Given the description of an element on the screen output the (x, y) to click on. 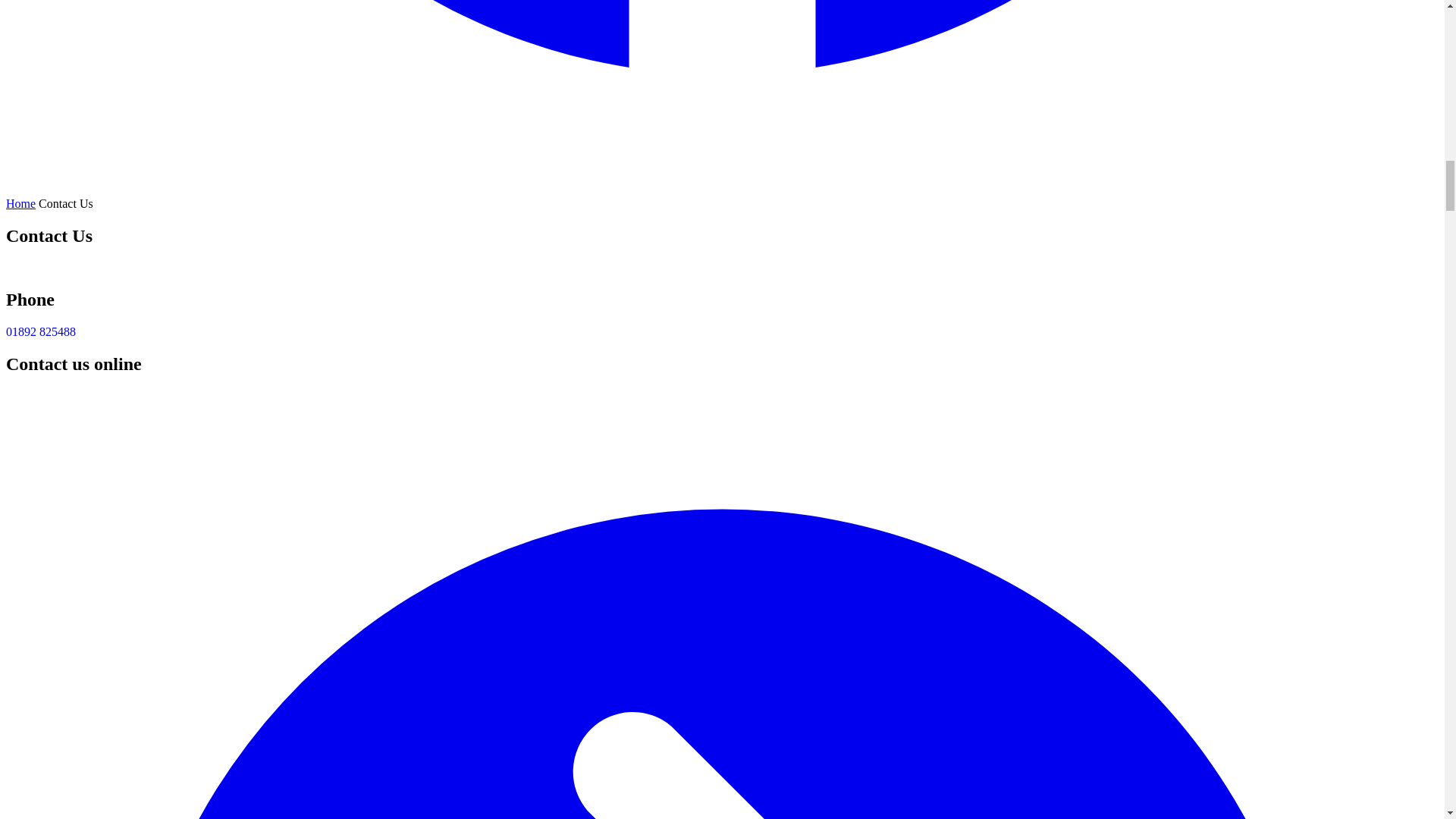
Home (19, 203)
01892 825488 (40, 331)
